Given the description of an element on the screen output the (x, y) to click on. 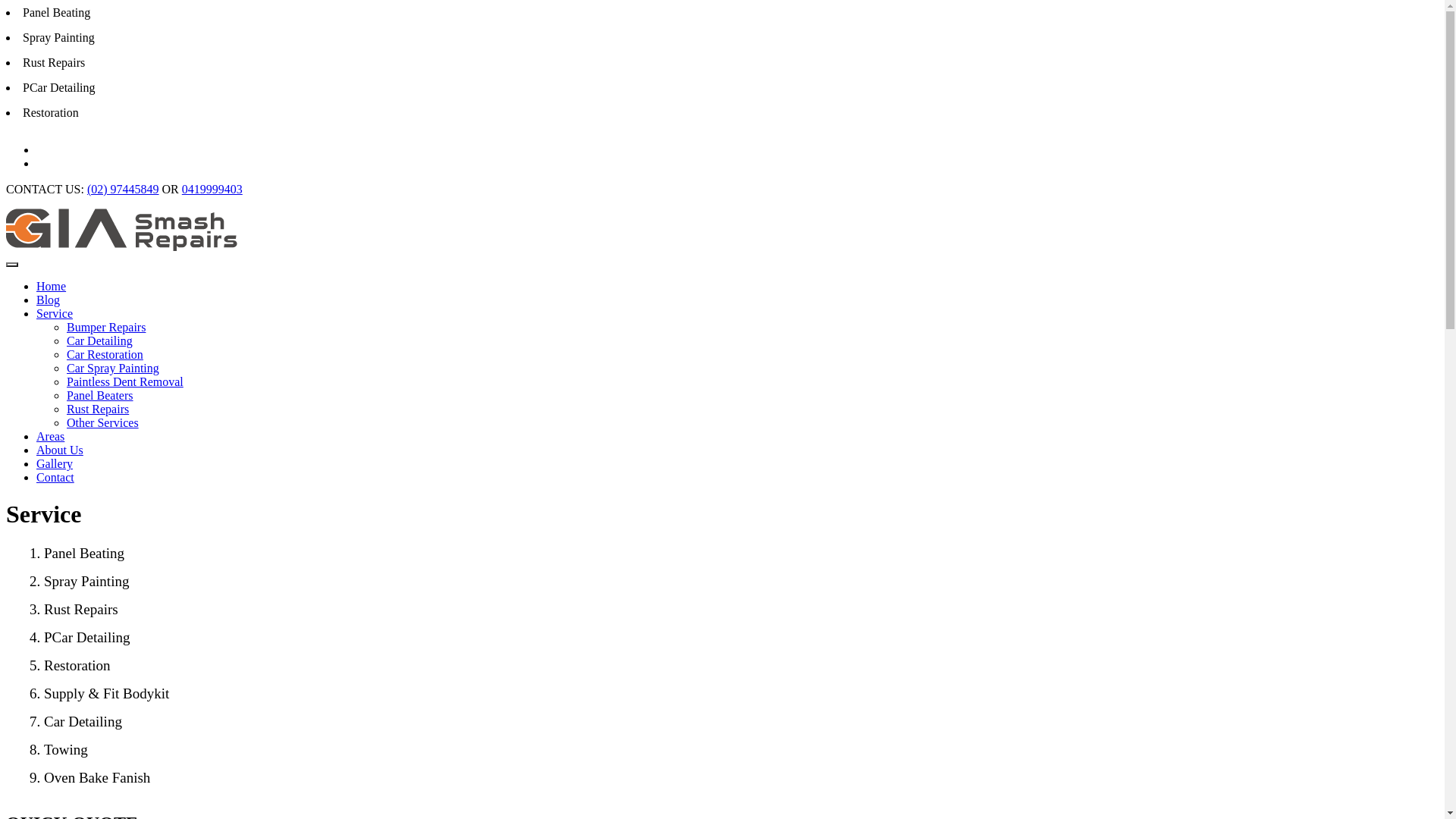
Blog Element type: text (47, 299)
Other Services Element type: text (102, 422)
Gallery Element type: text (54, 463)
Home Element type: text (50, 285)
0419999403 Element type: text (212, 188)
Car Restoration Element type: text (104, 354)
Rust Repairs Element type: text (97, 408)
Paintless Dent Removal Element type: text (124, 381)
Contact Element type: text (55, 476)
Bumper Repairs Element type: text (105, 326)
Car Spray Painting Element type: text (112, 367)
(02) 97445849 Element type: text (123, 188)
Service Element type: text (54, 313)
About Us Element type: text (59, 449)
Panel Beaters Element type: text (99, 395)
Car Detailing Element type: text (99, 340)
Areas Element type: text (50, 435)
